Given the description of an element on the screen output the (x, y) to click on. 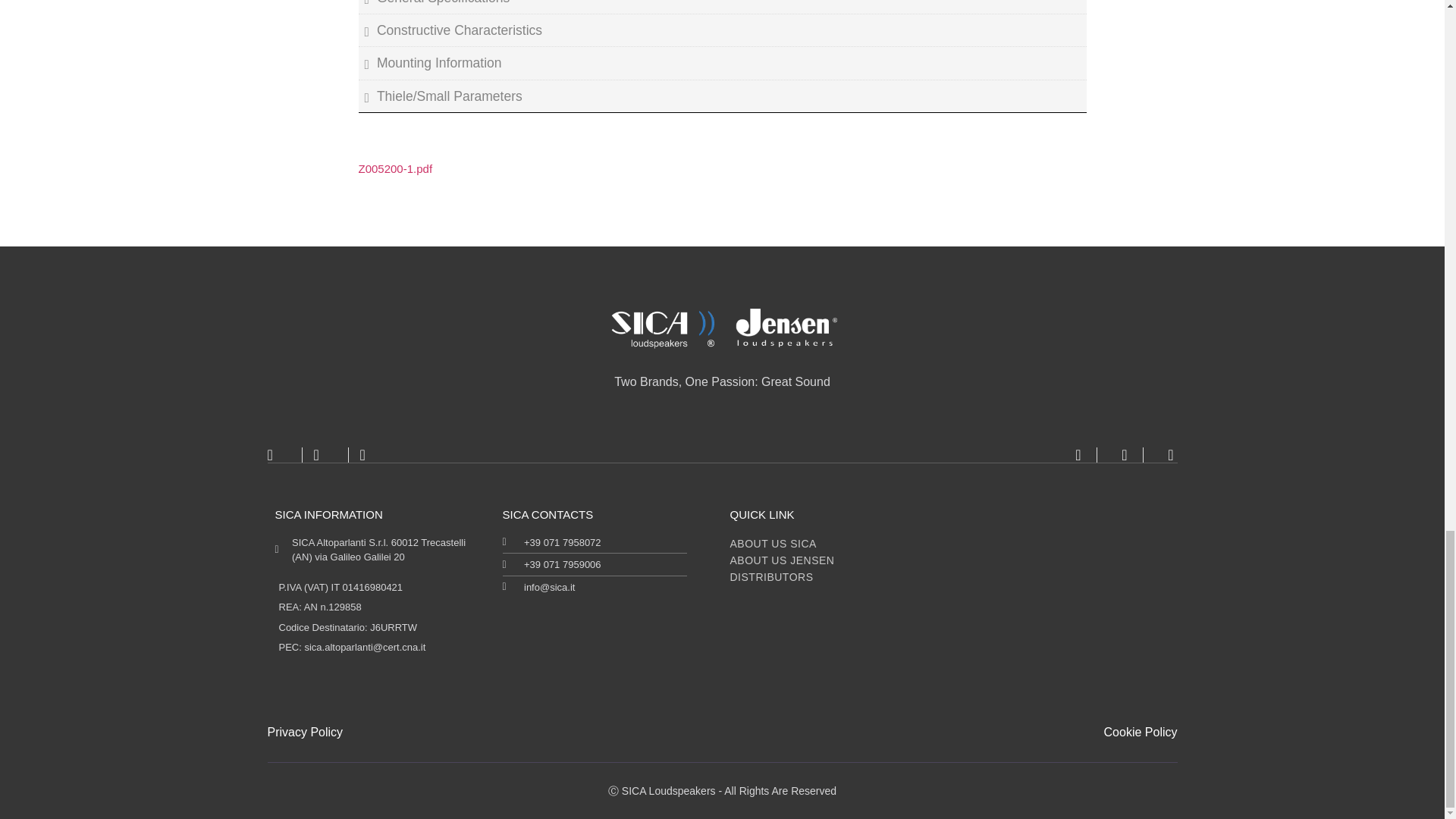
Cookie Policy  (1140, 731)
Privacy Policy  (304, 731)
